Given the description of an element on the screen output the (x, y) to click on. 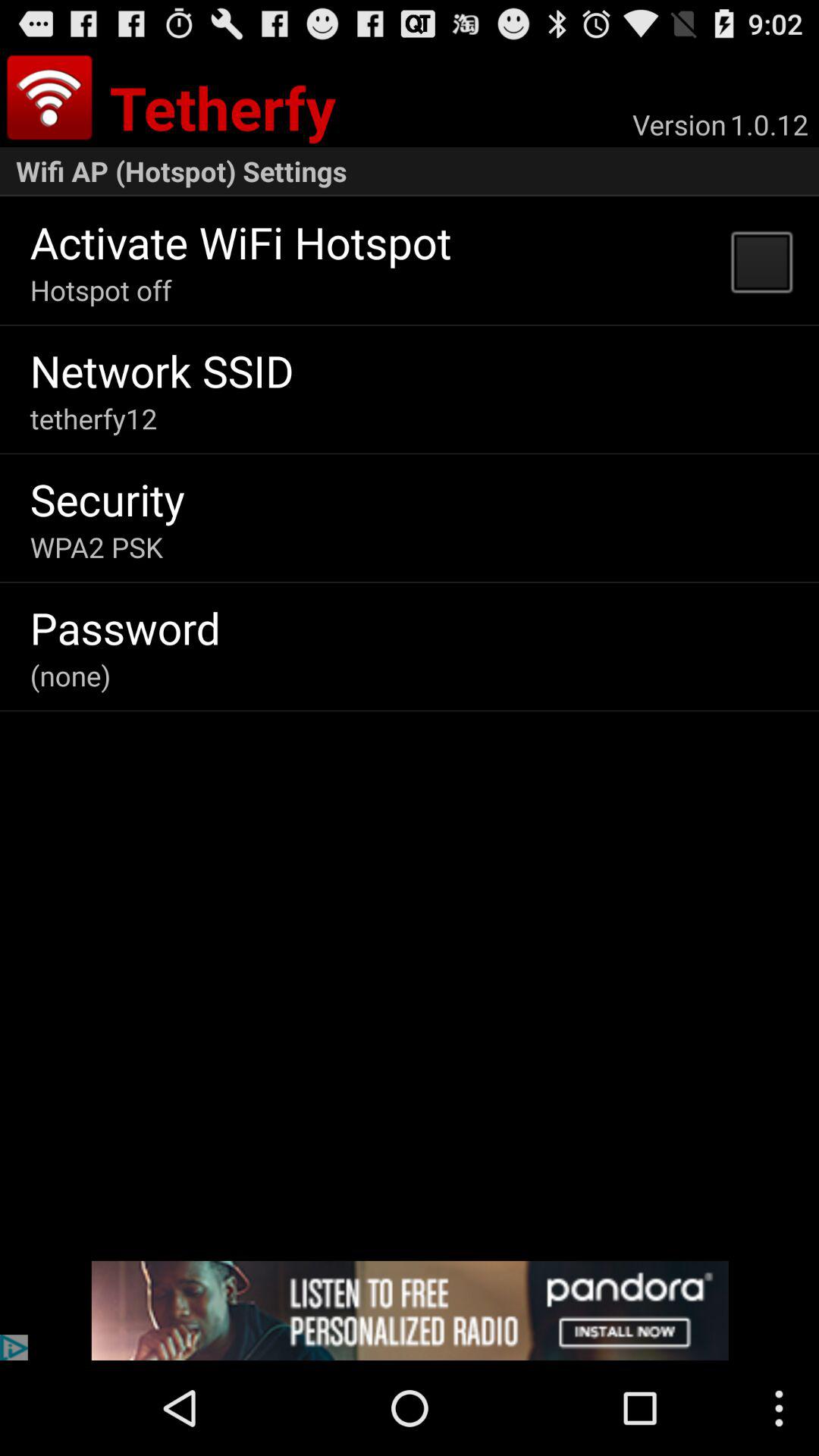
swipe until the network ssid (162, 370)
